Given the description of an element on the screen output the (x, y) to click on. 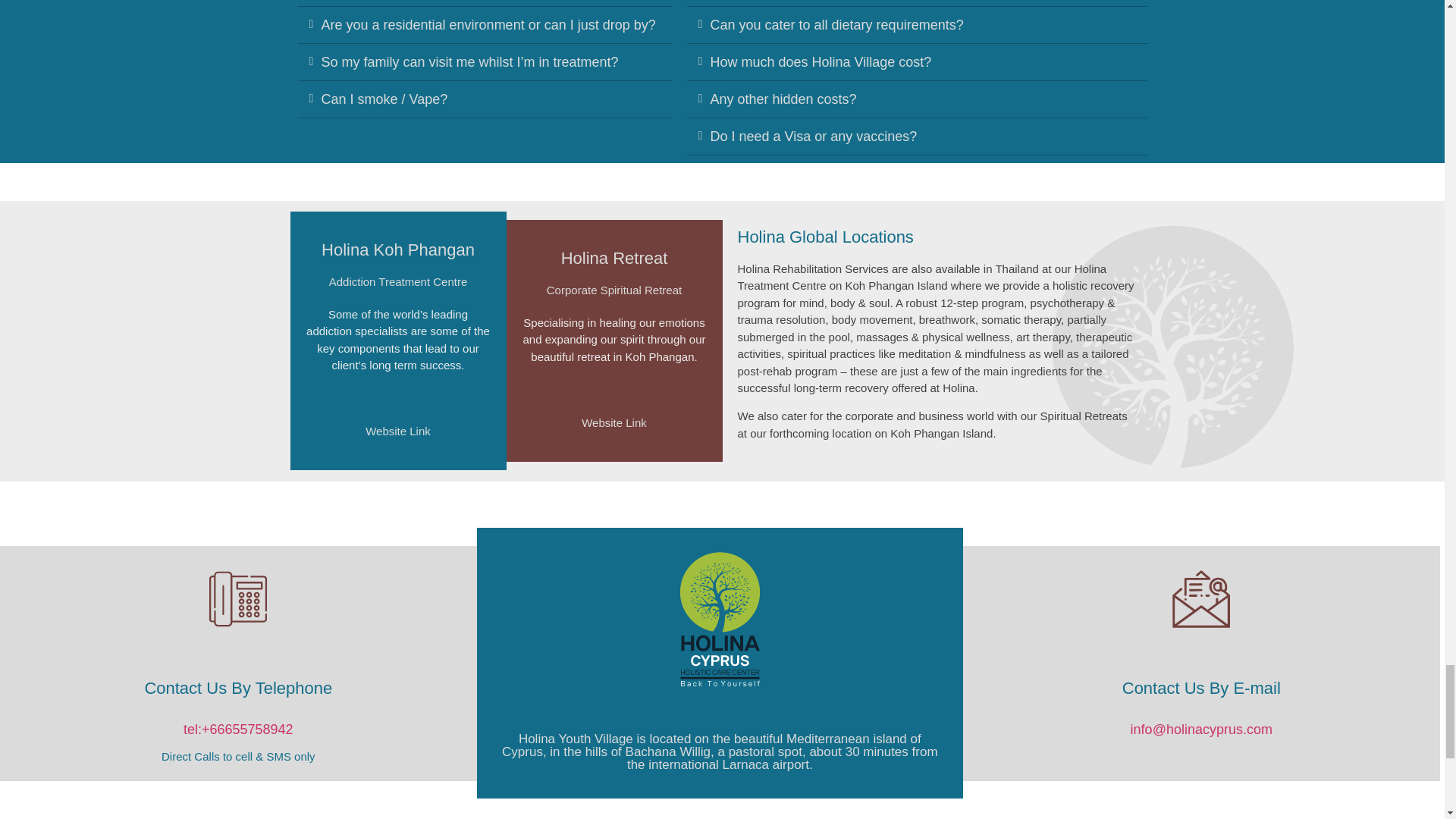
Website Link (613, 422)
Any other hidden costs? (783, 99)
Are you a residential environment or can I just drop by? (488, 24)
Can you cater to all dietary requirements? (836, 24)
Do I need a Visa or any vaccines? (813, 136)
How much does Holina Village cost? (820, 61)
Website Link (397, 431)
